Given the description of an element on the screen output the (x, y) to click on. 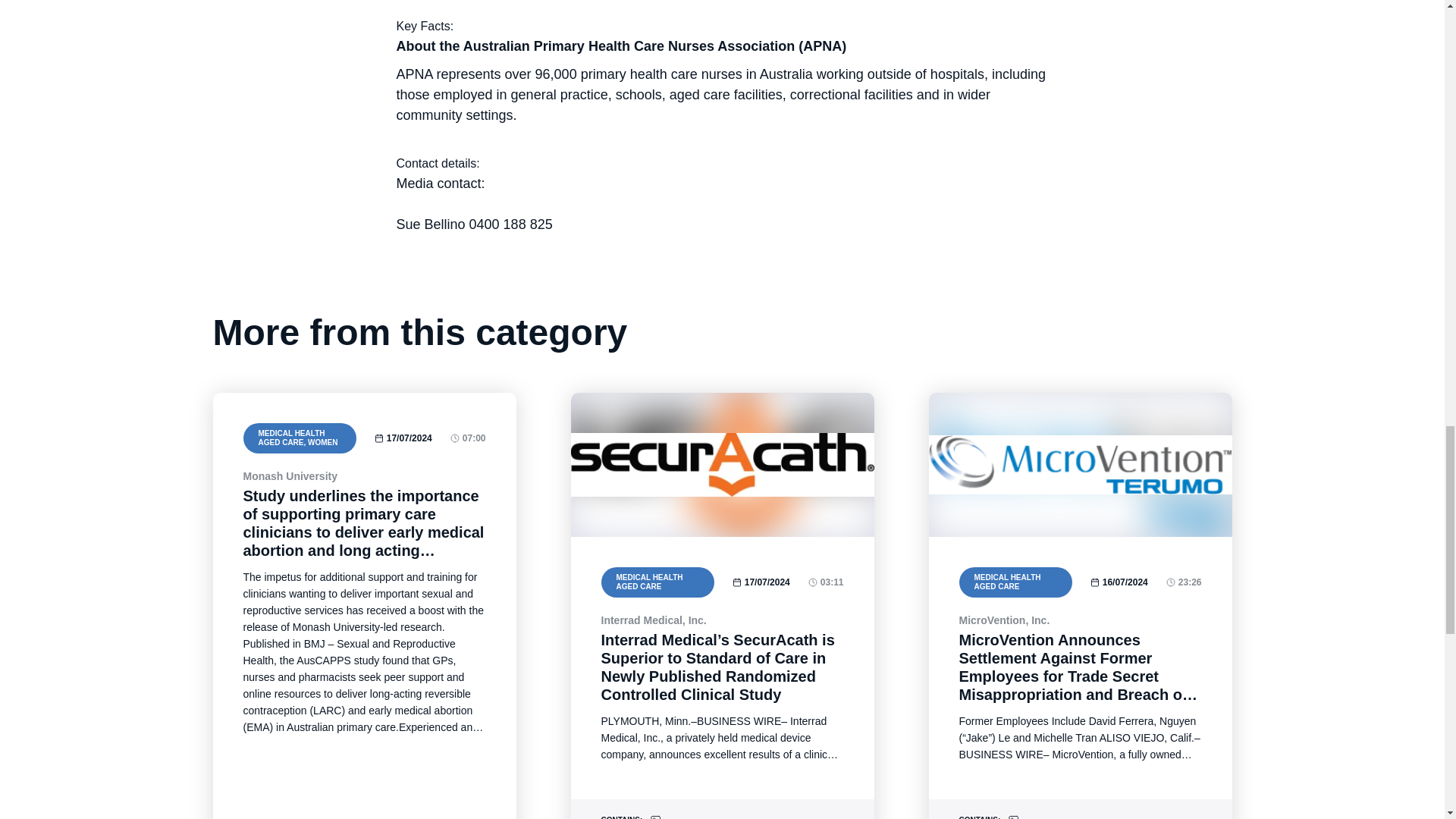
Images (1013, 816)
Images (655, 816)
